Given the description of an element on the screen output the (x, y) to click on. 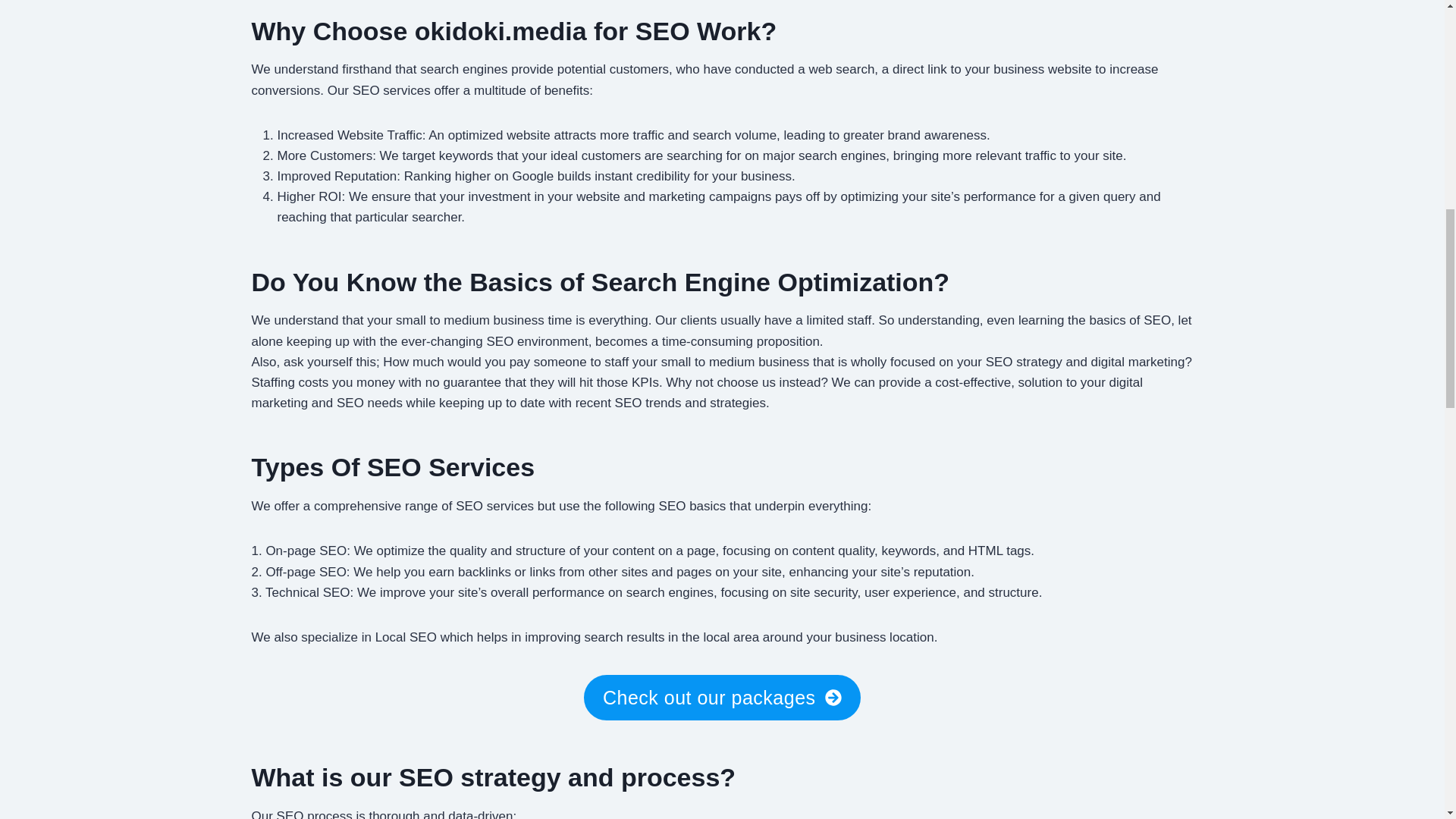
Check out our packages (721, 697)
